Given the description of an element on the screen output the (x, y) to click on. 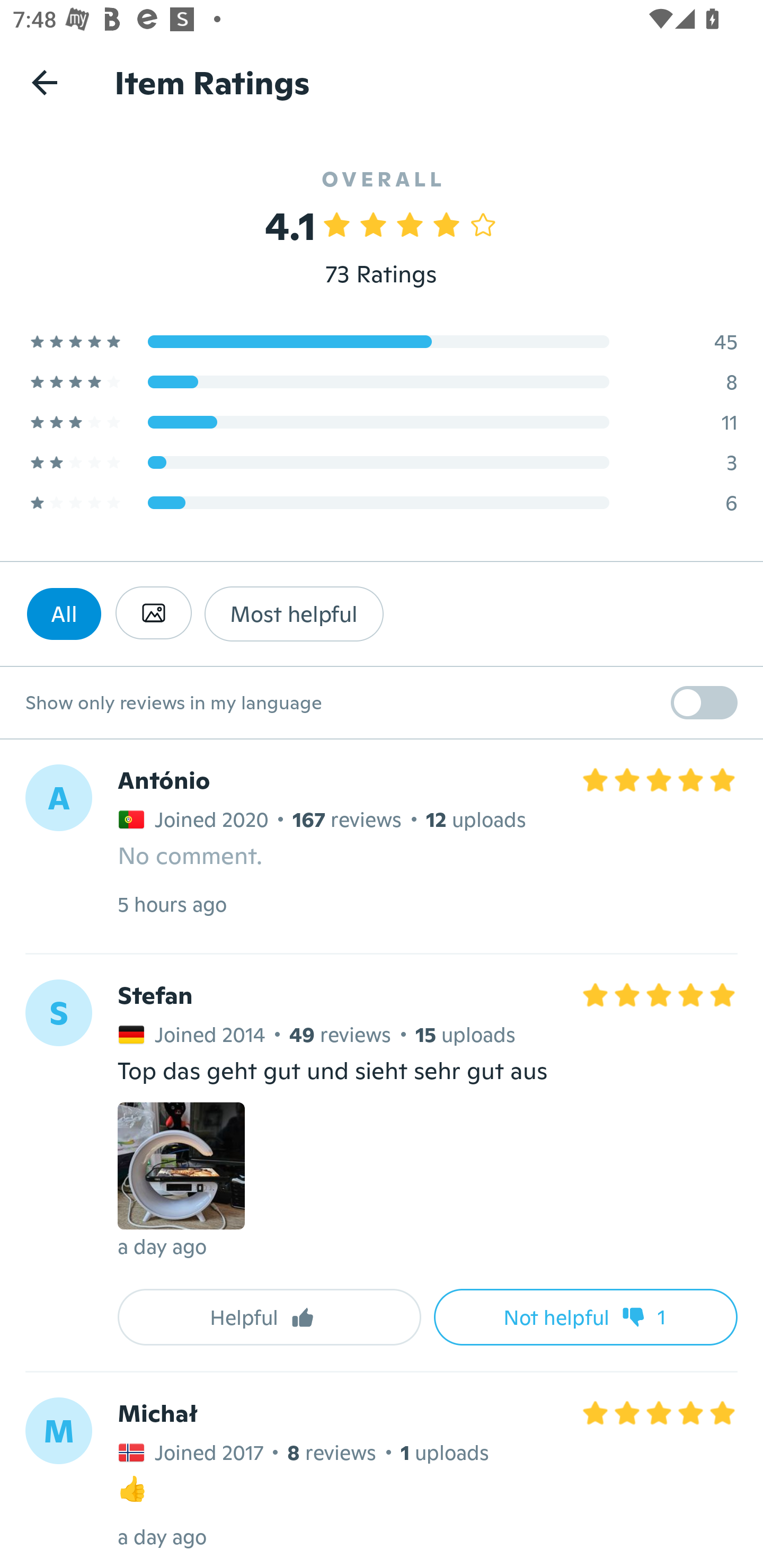
Navigate up (44, 82)
5 Star Rating 45 (381, 341)
4 Star Rating 8 (381, 381)
3 Star Rating 11 (381, 421)
2 Star Rating 3 (381, 462)
1 Star Rating 6 (381, 502)
All (64, 613)
Has photo (153, 612)
Most helpful (293, 613)
Show only reviews in my language (381, 702)
A (58, 798)
António (163, 780)
5 hours ago (171, 903)
S (58, 1012)
Stefan (155, 995)
a day ago (162, 1246)
Helpful (269, 1316)
Not helpful 1 (585, 1316)
M (58, 1430)
Michał (157, 1412)
a day ago (162, 1536)
